Given the description of an element on the screen output the (x, y) to click on. 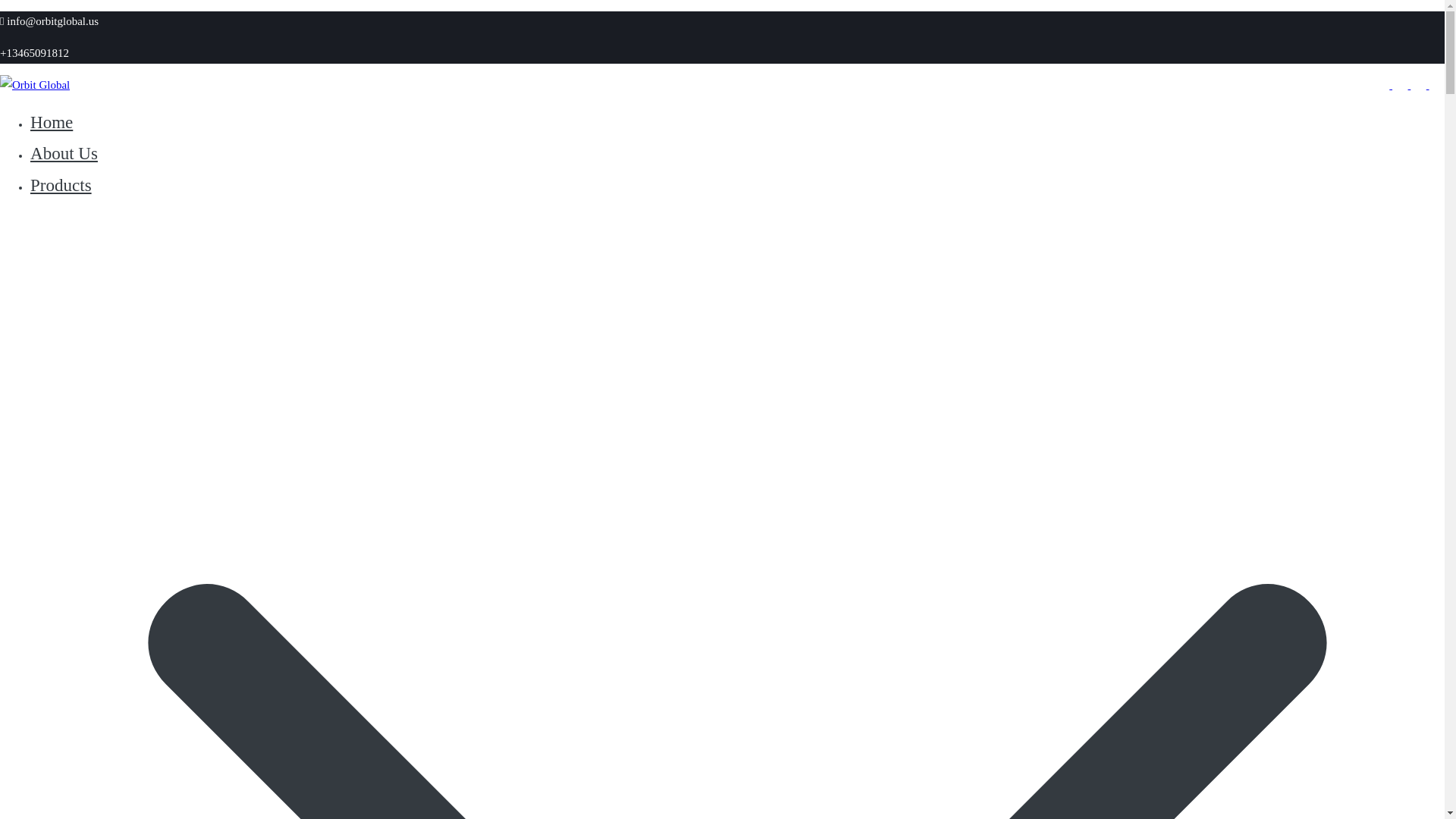
Orbit Global (29, 116)
About Us (63, 152)
Home (51, 121)
